Given the description of an element on the screen output the (x, y) to click on. 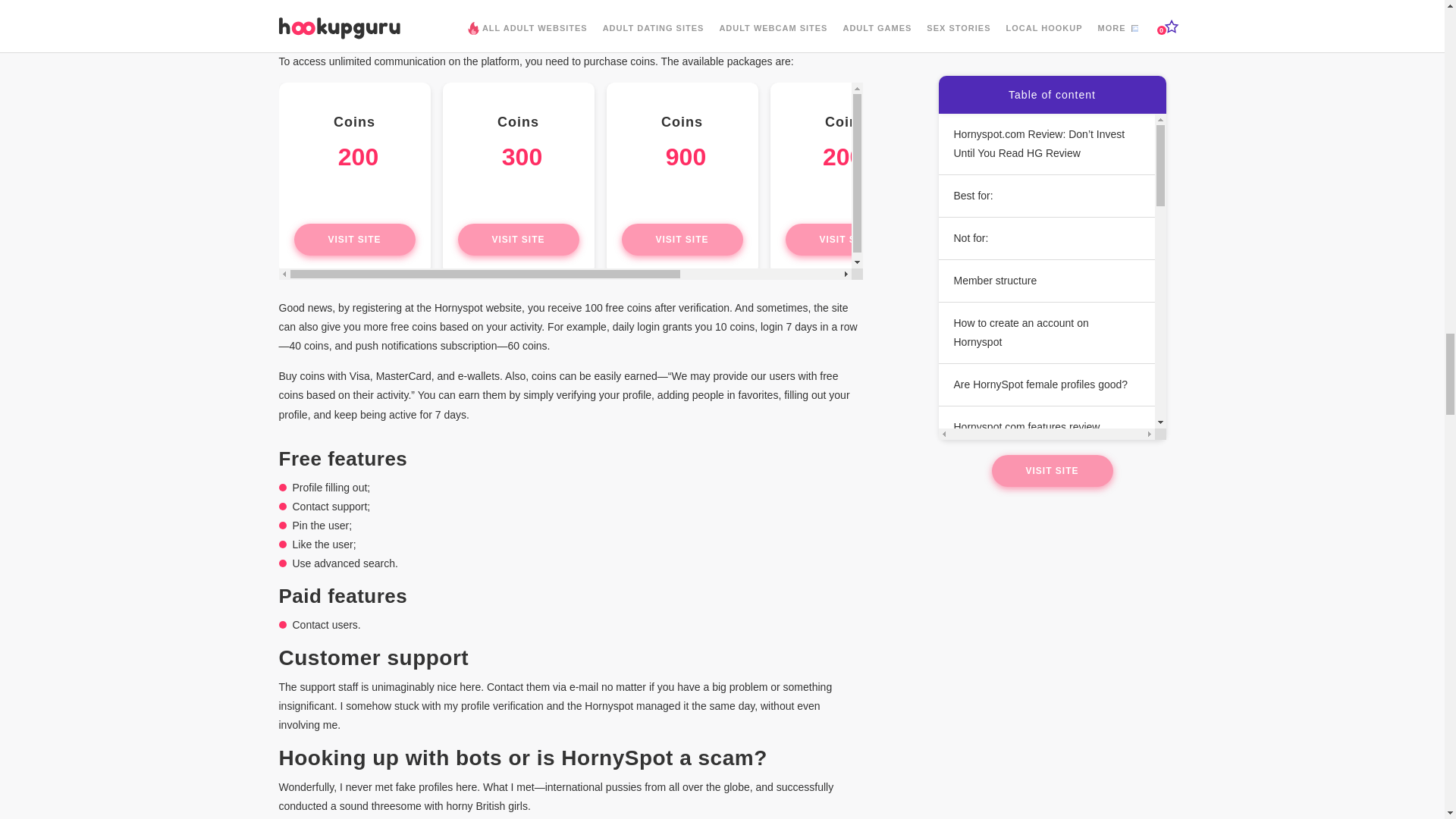
VISIT SITE (354, 239)
VISIT SITE (518, 239)
VISIT SITE (846, 239)
VISIT SITE (681, 239)
